Given the description of an element on the screen output the (x, y) to click on. 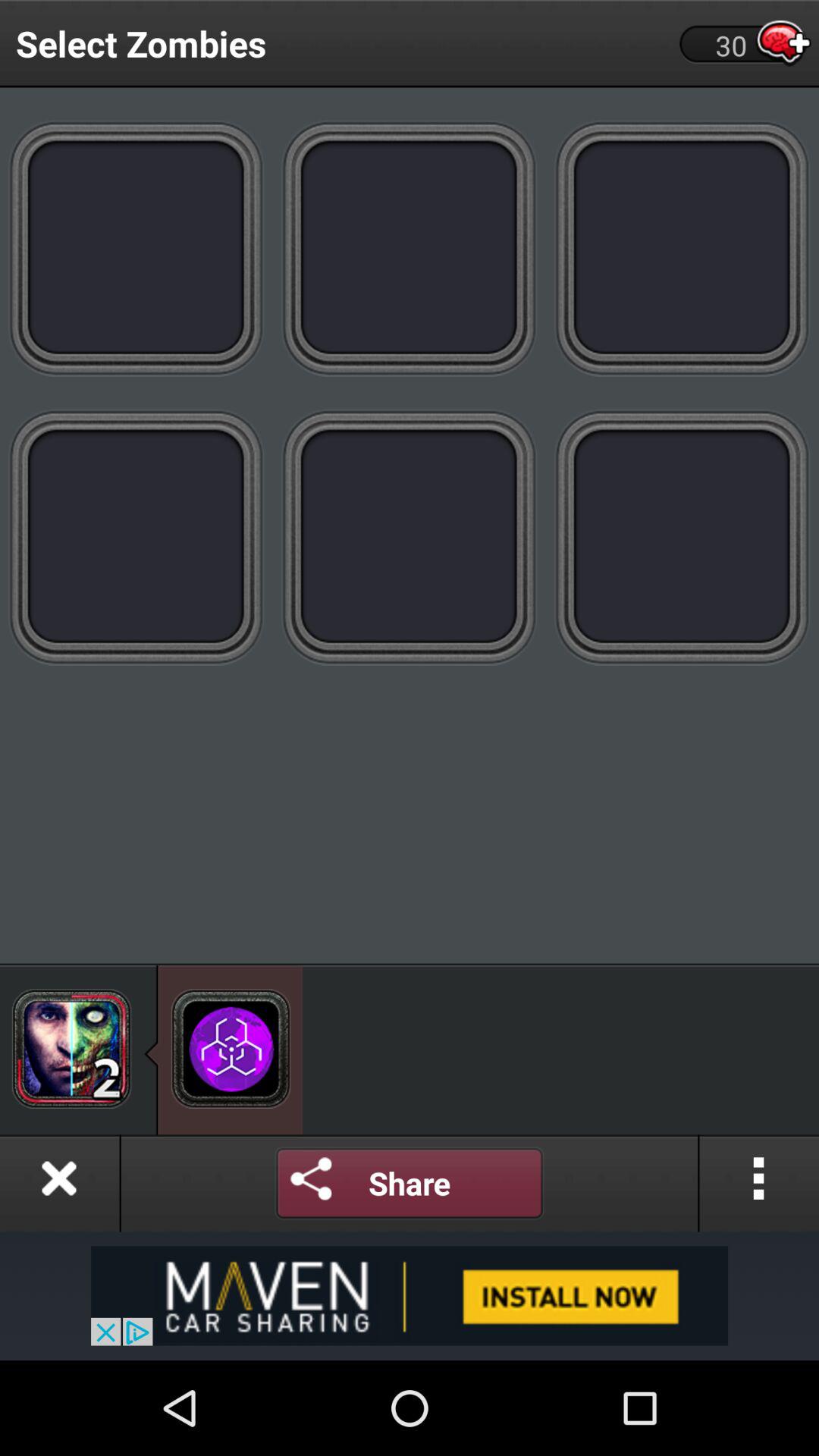
share on social media (311, 1183)
